Given the description of an element on the screen output the (x, y) to click on. 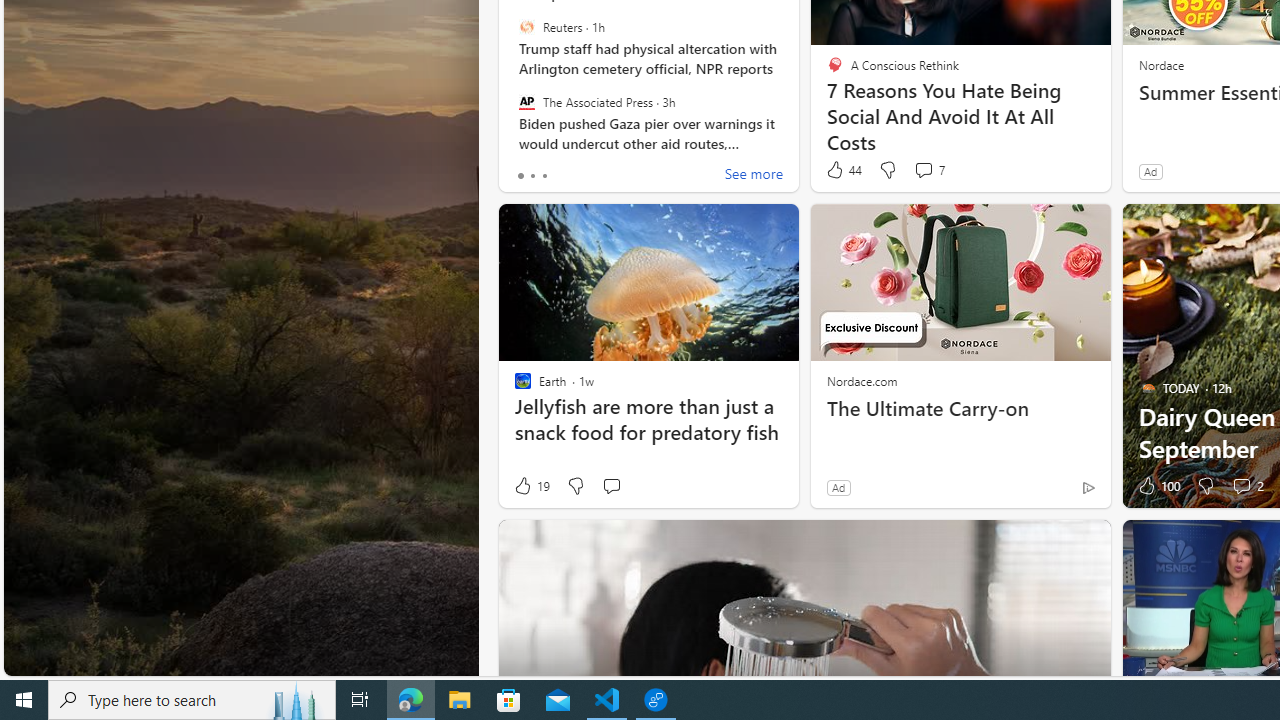
tab-0 (520, 175)
View comments 7 Comment (928, 170)
tab-1 (532, 175)
The Ultimate Carry-on (959, 408)
19 Like (531, 485)
Start the conversation (610, 485)
Ad (838, 487)
44 Like (843, 170)
100 Like (1157, 485)
Start the conversation (611, 485)
Reuters (526, 27)
View comments 7 Comment (923, 169)
The Associated Press (526, 101)
